Given the description of an element on the screen output the (x, y) to click on. 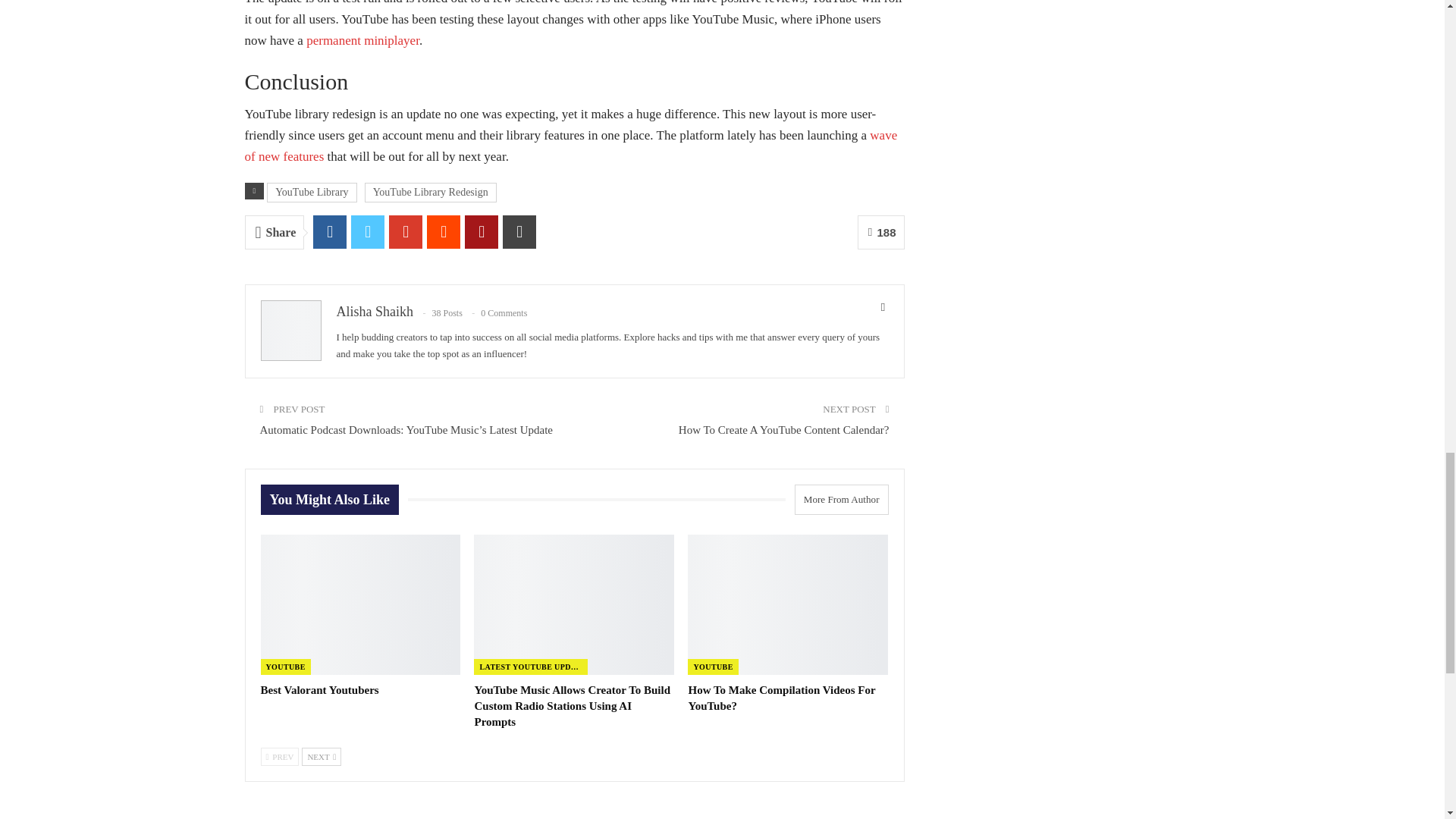
How To Make Compilation Videos For YouTube? (787, 604)
Previous (279, 756)
permanent miniplayer (362, 40)
How To Make Compilation Videos For YouTube? (781, 697)
Best Valorant Youtubers (319, 689)
wave of new features (570, 145)
Best Valorant Youtubers (360, 604)
YouTube Library (311, 192)
YouTube Library Redesign (430, 192)
Next (320, 756)
